Given the description of an element on the screen output the (x, y) to click on. 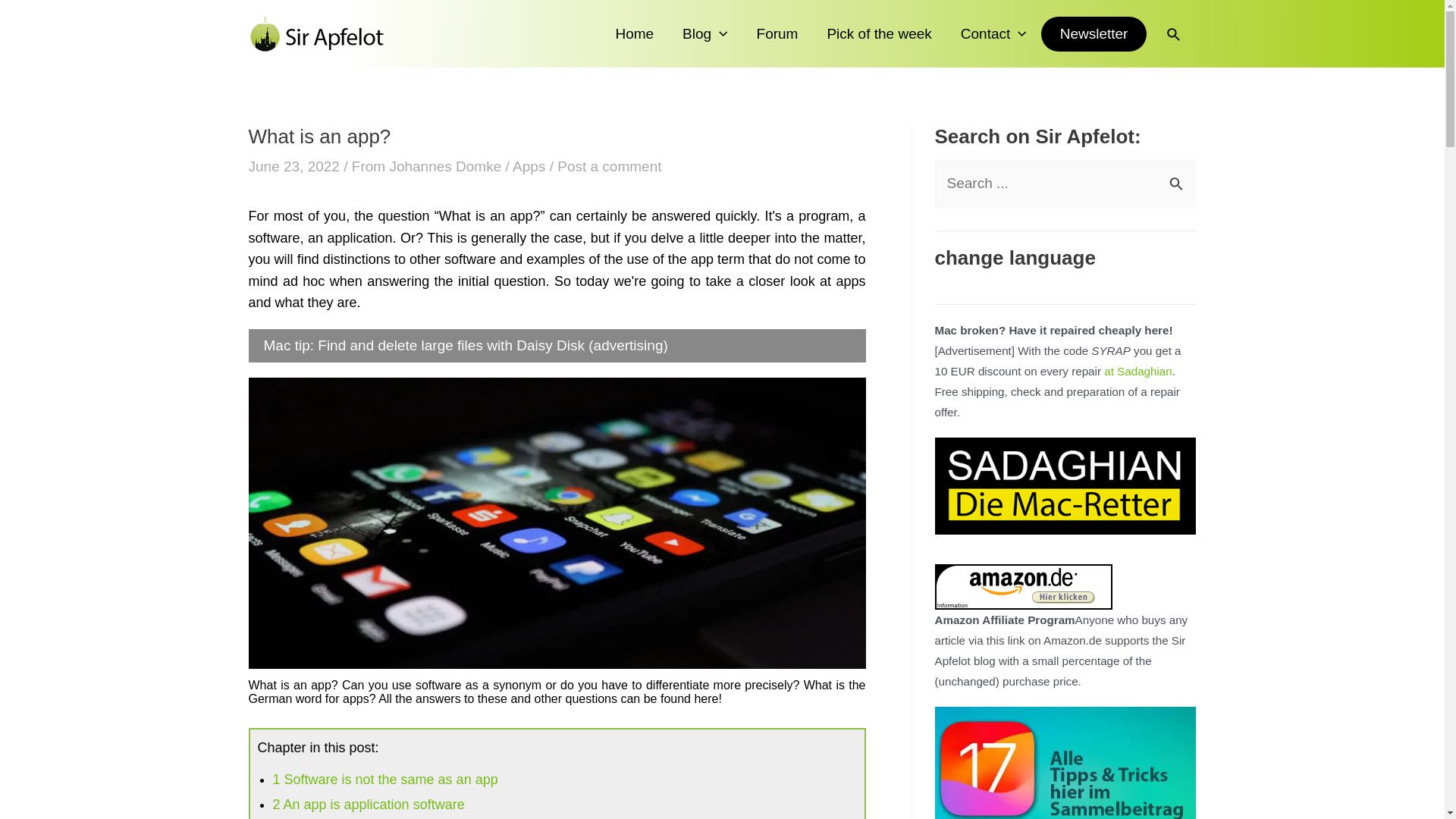
Forum (777, 33)
Newsletter (1094, 33)
Search (1178, 176)
Blog (704, 33)
View all posts by Johannes Domke (446, 166)
Pick of the week (878, 33)
Home (633, 33)
Contact (993, 33)
Search (1178, 176)
